Given the description of an element on the screen output the (x, y) to click on. 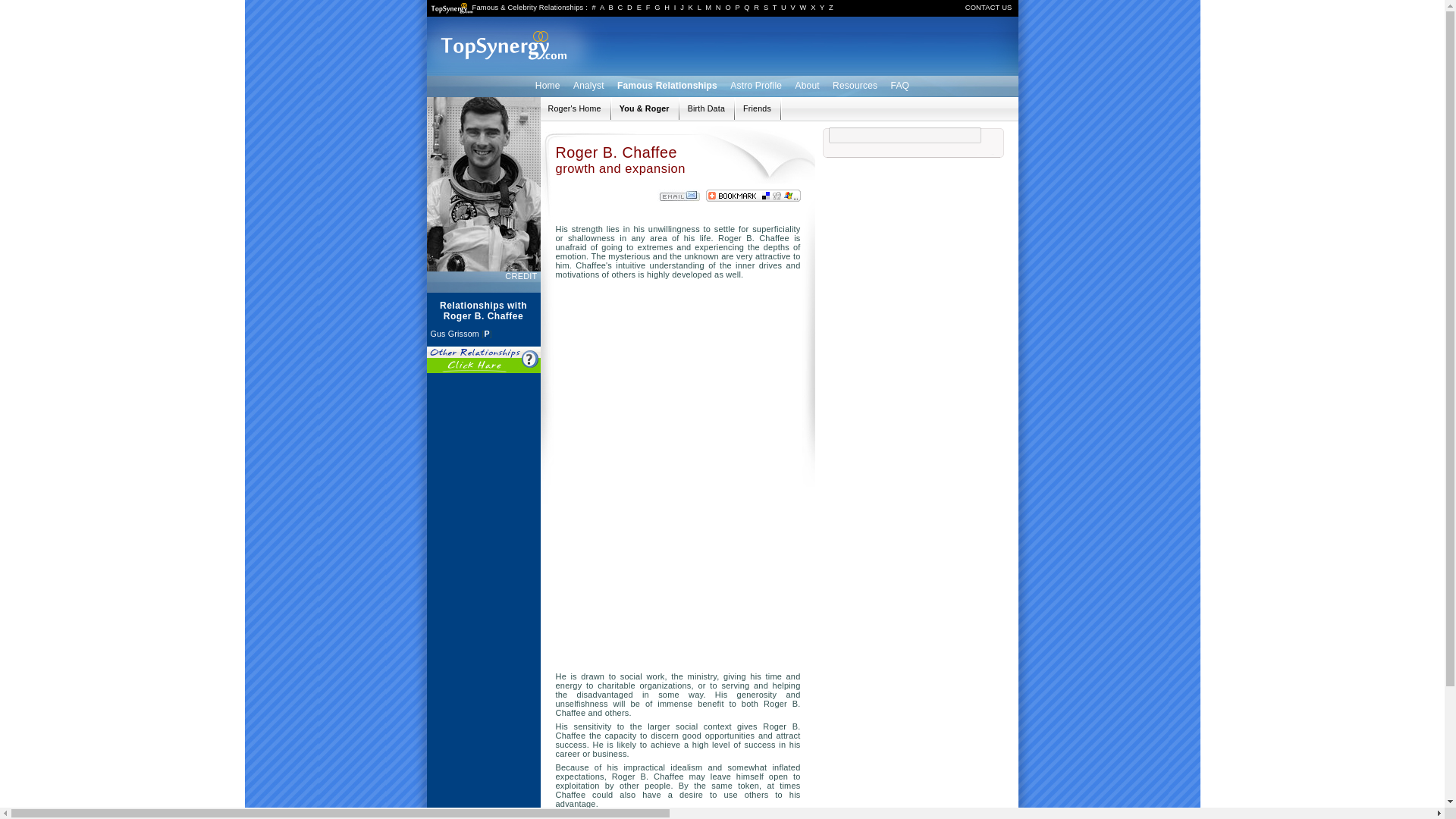
CREDIT (522, 275)
W (802, 7)
Astrological birth data for Roger B. Chaffee (706, 108)
Resources (854, 85)
Astro Profile (756, 85)
Roger's links and resources (756, 108)
Search (1149, 158)
Famous Relationships (666, 85)
FAQ (900, 85)
Home (547, 85)
About (806, 85)
CONTACT US (988, 7)
Relationships with Roger B. Chaffee (573, 108)
Analyst (588, 85)
Analyze your relationships with Roger B. Chaffee (644, 108)
